Given the description of an element on the screen output the (x, y) to click on. 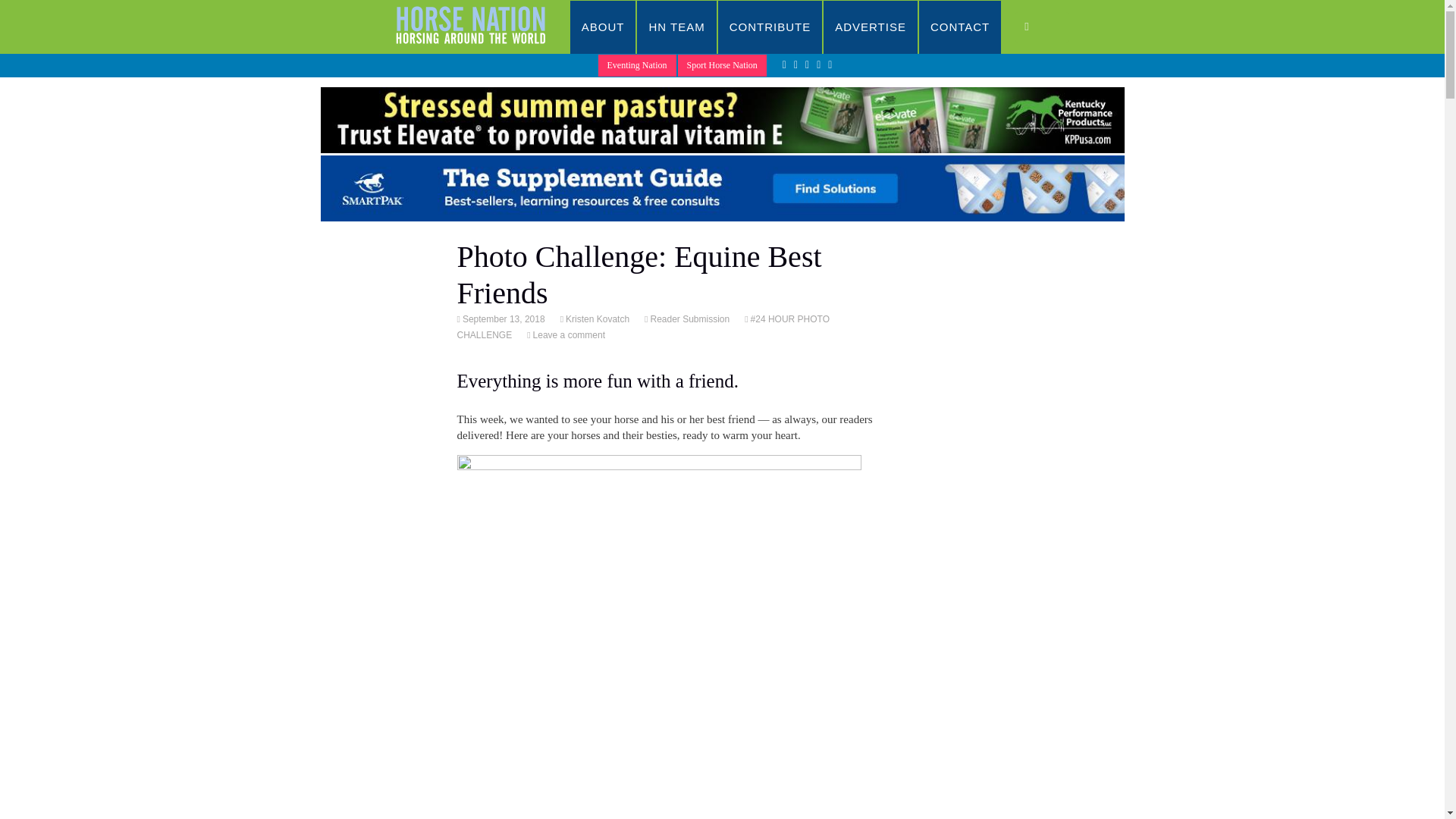
View all posts by Kristen Kovatch (595, 318)
Reader Submission (688, 318)
CONTACT (959, 27)
HN TEAM (676, 27)
ADVERTISE (870, 27)
Permalink to Photo Challenge: Equine Best Friends (502, 318)
Leave a comment (568, 335)
ABOUT (603, 27)
September 13, 2018 (502, 318)
CONTRIBUTE (769, 27)
